Given the description of an element on the screen output the (x, y) to click on. 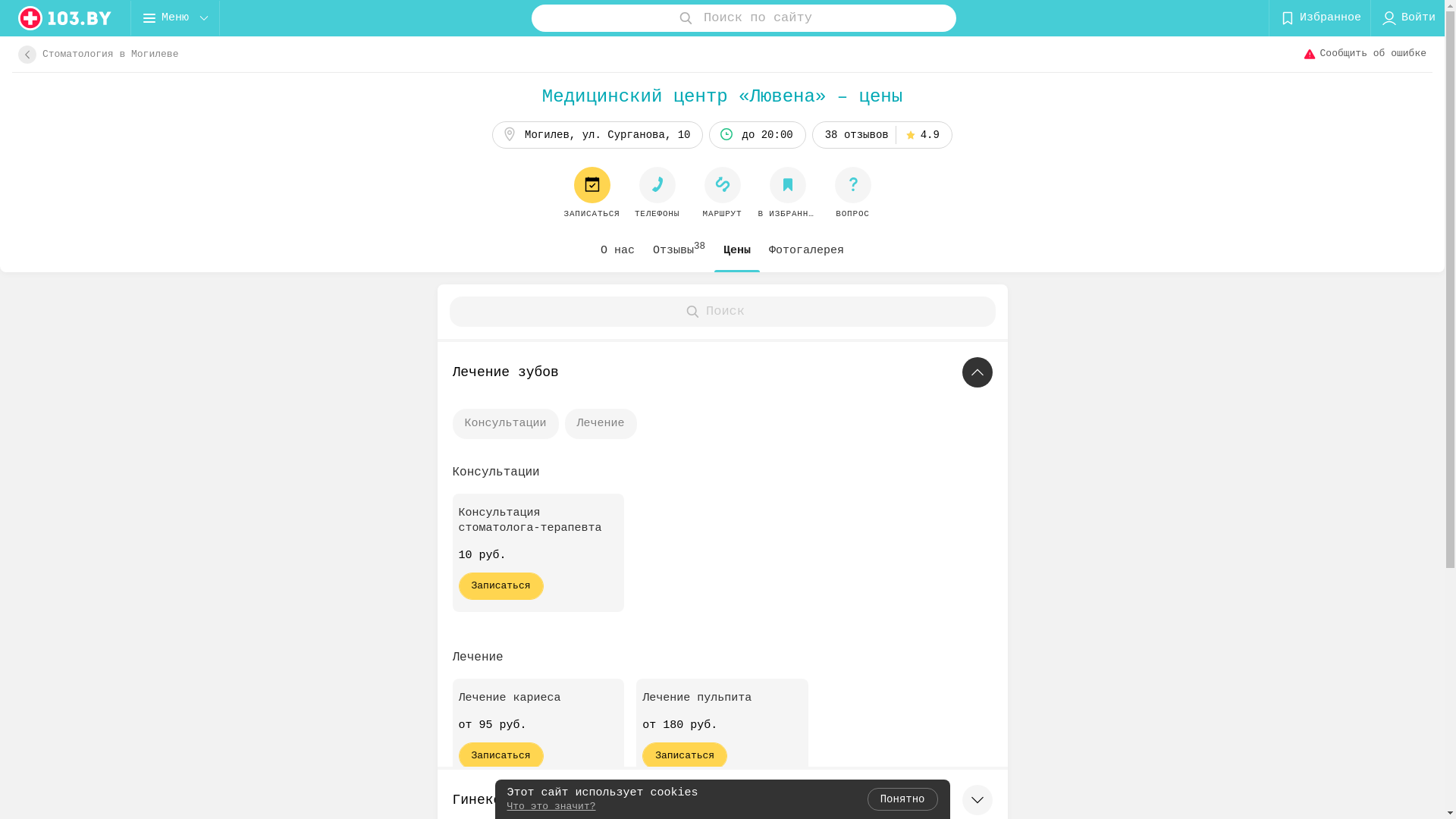
logo Element type: hover (65, 18)
